Given the description of an element on the screen output the (x, y) to click on. 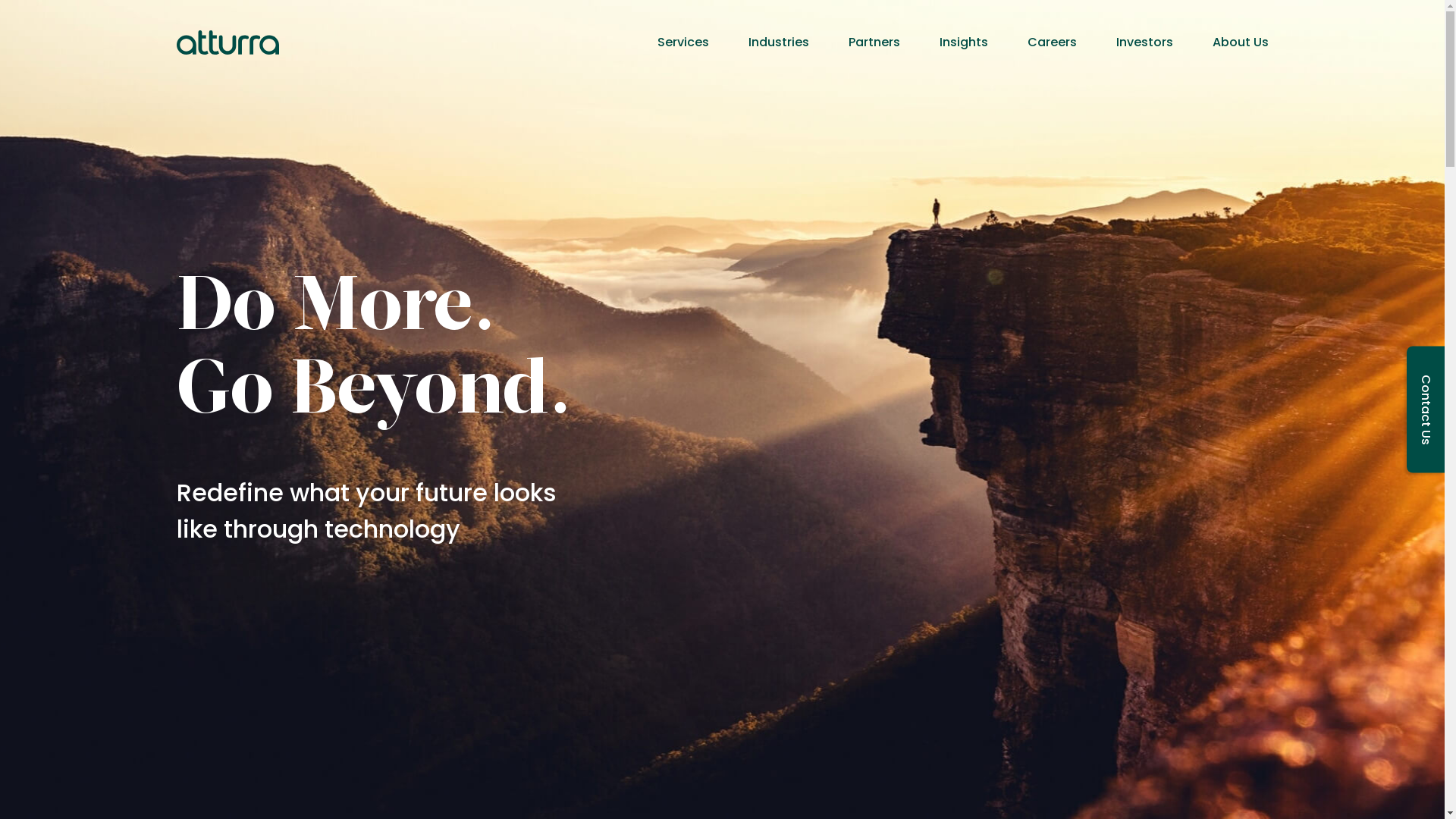
About Us Element type: text (1239, 42)
Partners Element type: text (873, 42)
Investors Element type: text (1144, 42)
Insights Element type: text (962, 42)
Contact Us Element type: text (1425, 408)
Careers Element type: text (1051, 42)
Services Element type: text (682, 42)
Home Element type: hover (226, 42)
Industries Element type: text (777, 42)
Skip to main content Element type: text (0, 0)
